Given the description of an element on the screen output the (x, y) to click on. 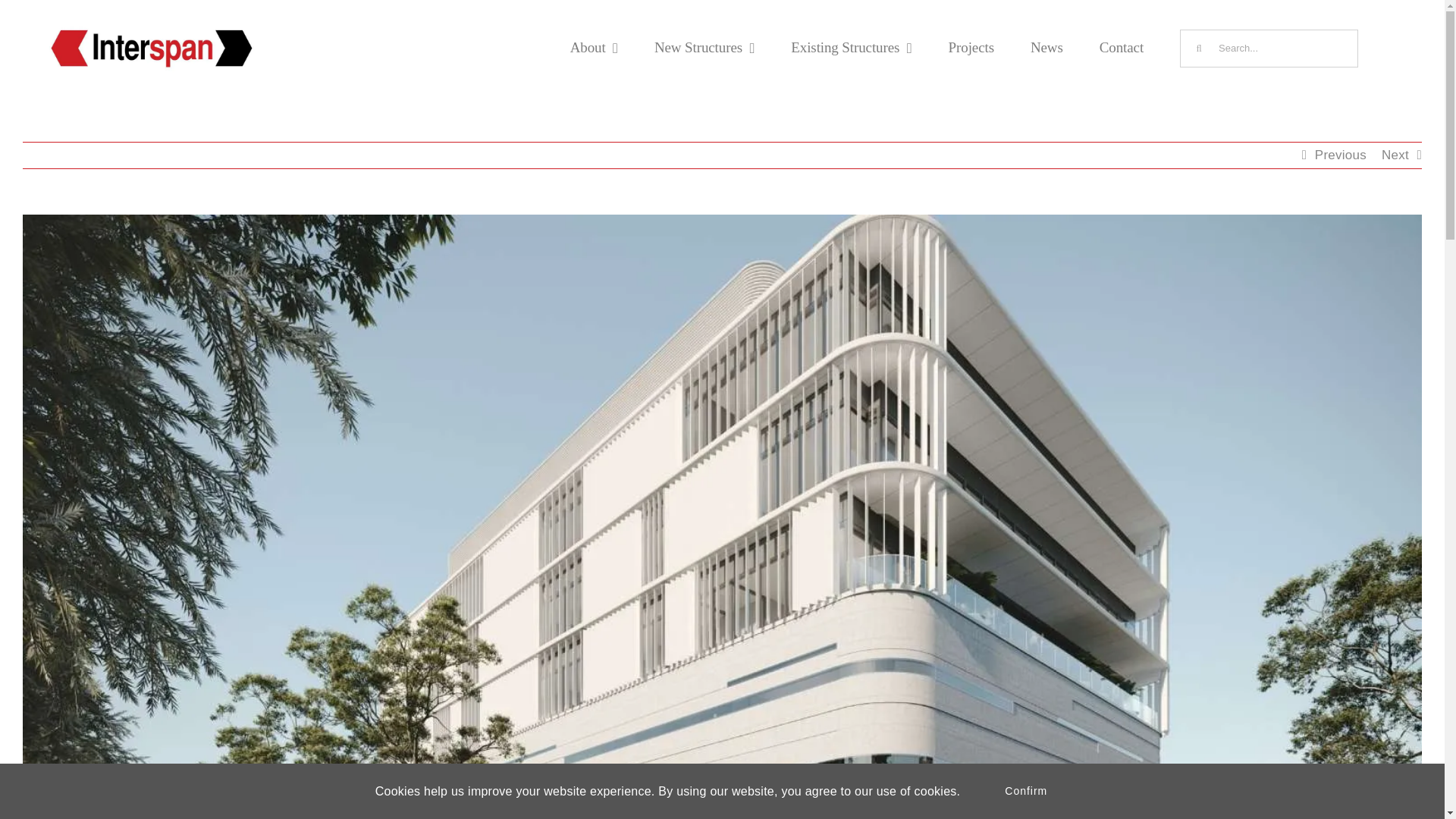
Next (1395, 155)
Previous (1340, 155)
News (1046, 48)
About (593, 48)
New Structures (703, 48)
Existing Structures (850, 48)
Contact (1120, 48)
Projects (971, 48)
